Given the description of an element on the screen output the (x, y) to click on. 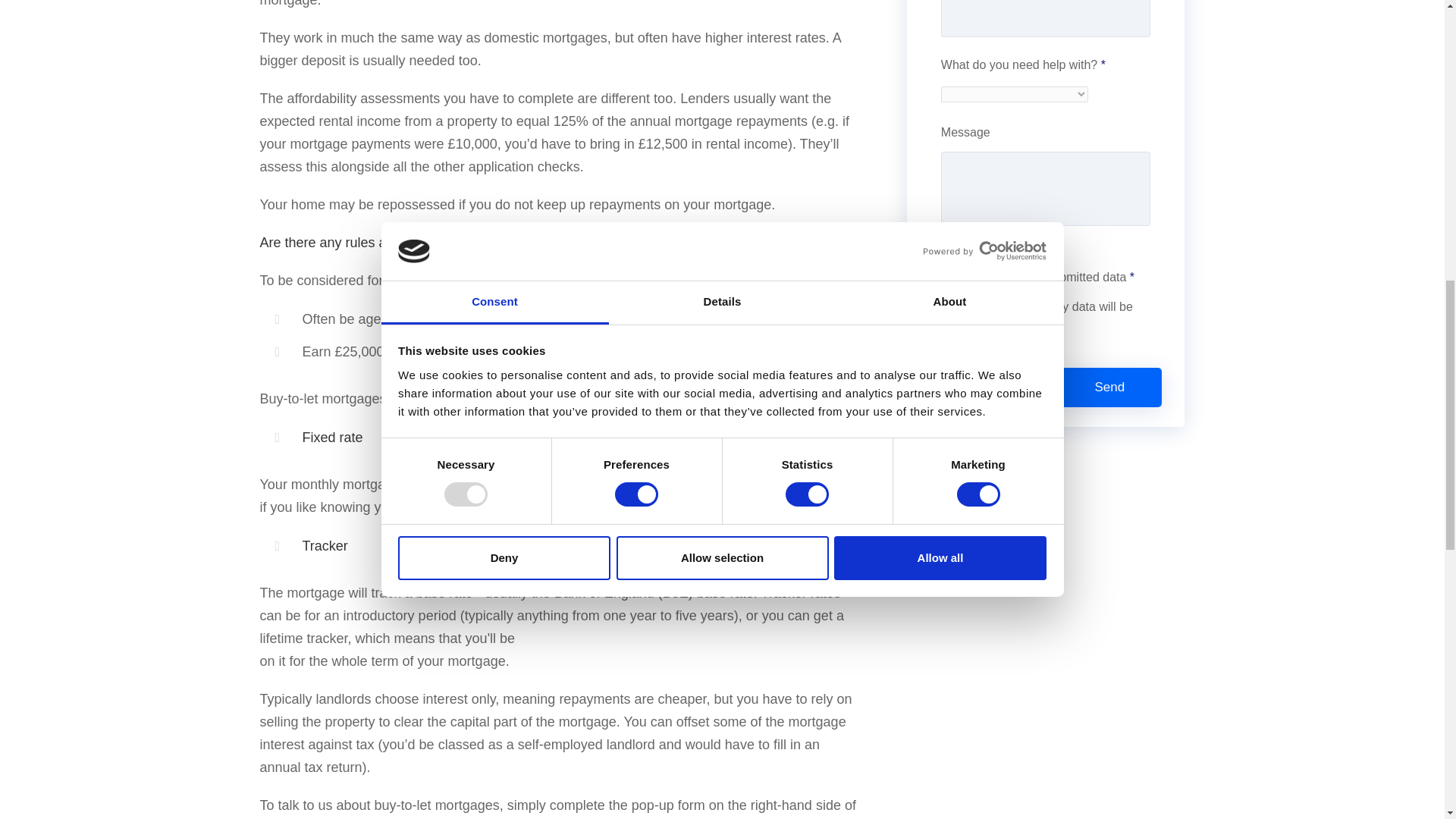
accepted (945, 307)
Send (1109, 387)
